Given the description of an element on the screen output the (x, y) to click on. 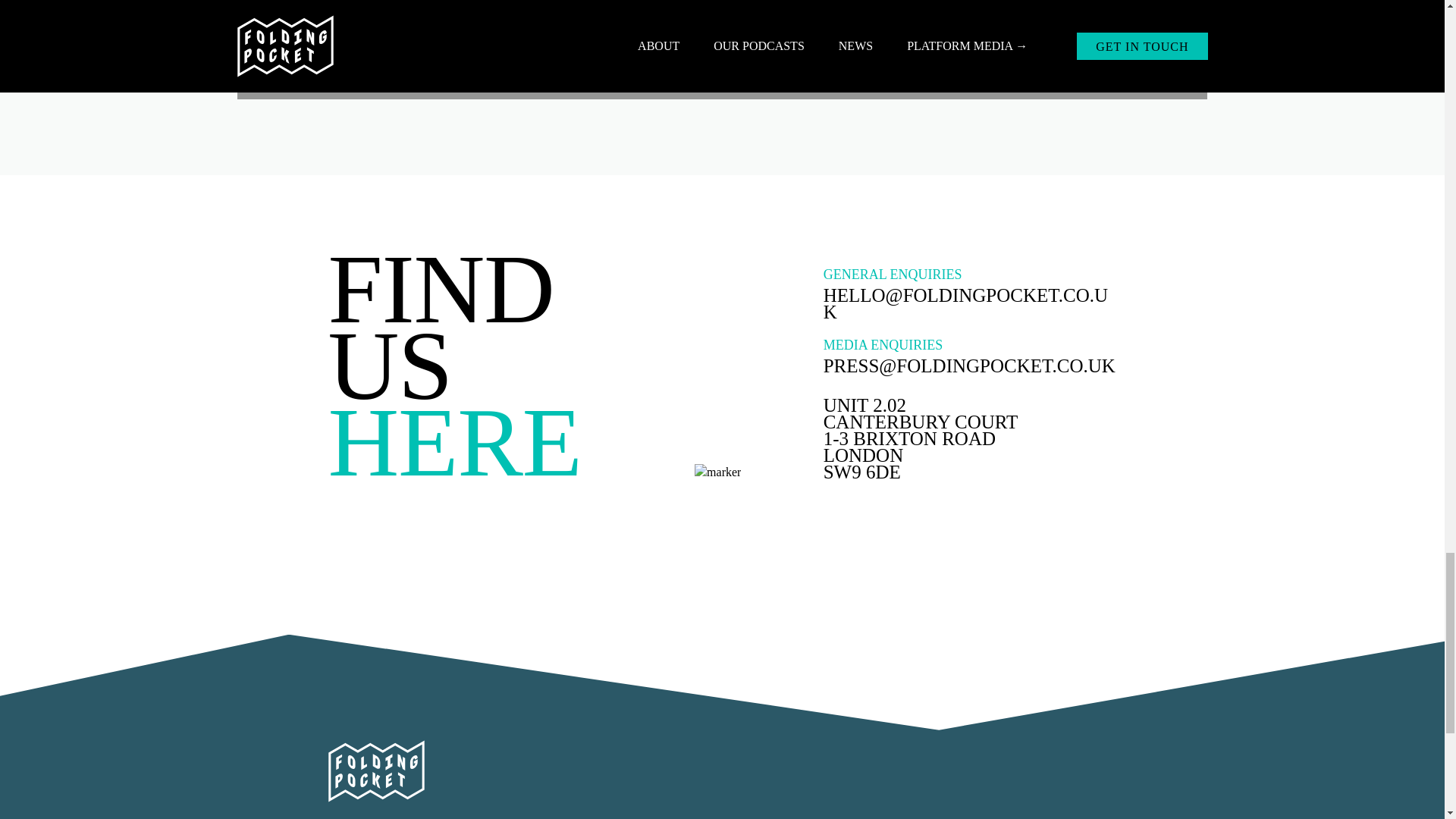
The Fast and the Curious (721, 49)
Football Firsts (1045, 49)
The 3AM Club with Caitlin and Leah (397, 49)
